Given the description of an element on the screen output the (x, y) to click on. 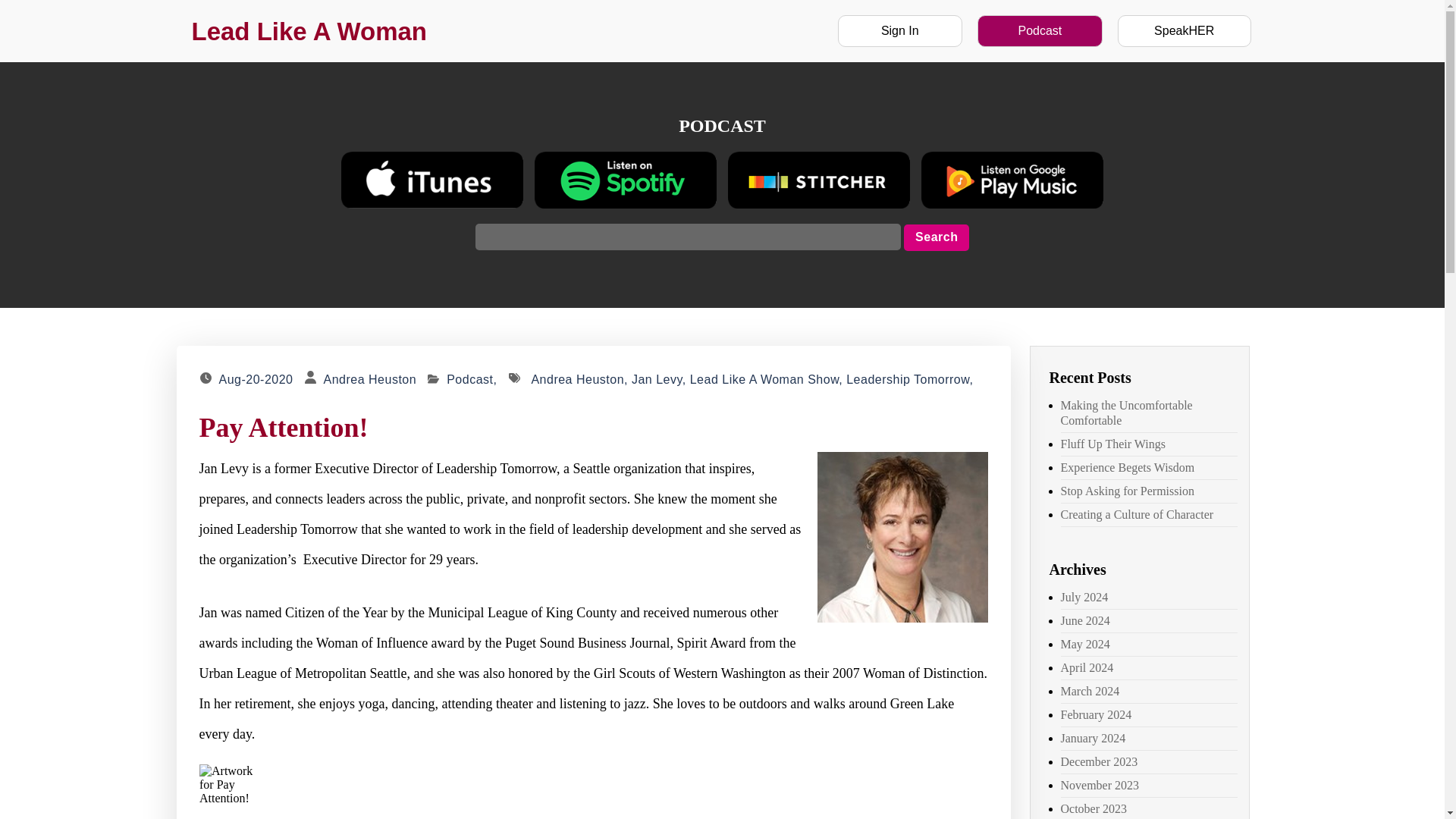
Search (936, 237)
Jan Levy (656, 379)
Sign In (899, 30)
Andrea Heuston (577, 379)
Search (936, 237)
Lead Like A Woman (308, 30)
Andrea Heuston (369, 379)
Leadership Tomorrow (907, 379)
Podcast (1039, 30)
SpeakHER (1184, 30)
Lead Like A Woman Show (765, 379)
Podcast (473, 379)
Podcast, (473, 379)
